Given the description of an element on the screen output the (x, y) to click on. 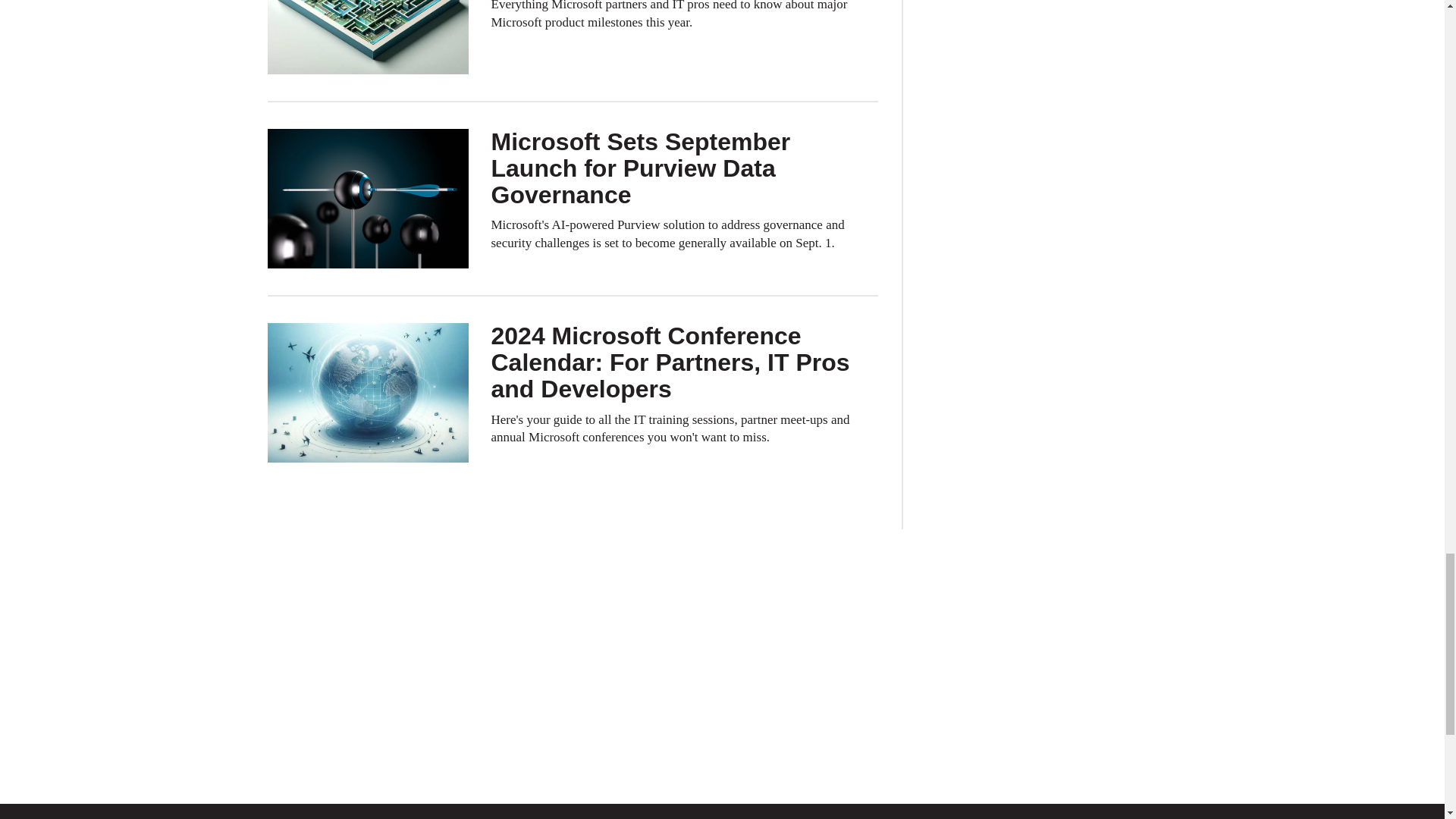
3rd party ad content (721, 712)
3rd party ad content (721, 613)
